Given the description of an element on the screen output the (x, y) to click on. 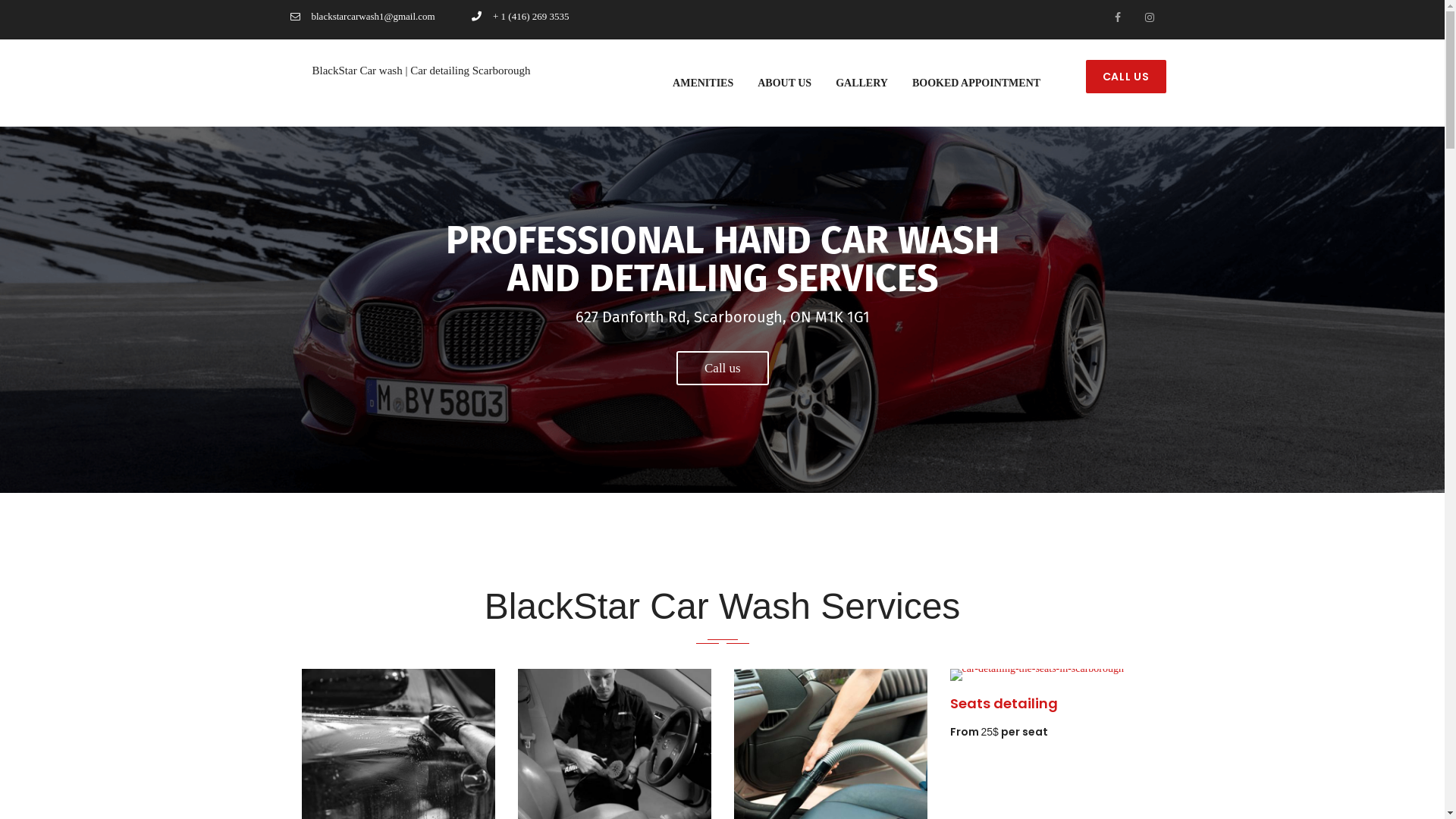
BlackStar Car wash | Car detailing Scarborough Element type: text (404, 67)
Seats detailing Element type: text (1003, 702)
+ 1 (416) 269 3535 Element type: text (520, 15)
ABOUT US Element type: text (784, 82)
Call us Element type: text (722, 368)
blackstarcarwash1@gmail.com Element type: text (361, 15)
GALLERY Element type: text (861, 82)
AMENITIES Element type: text (702, 82)
BOOKED APPOINTMENT Element type: text (975, 82)
Instagram Element type: hover (1145, 17)
CALL US Element type: text (1125, 76)
Facebook Element type: hover (1114, 17)
